Given the description of an element on the screen output the (x, y) to click on. 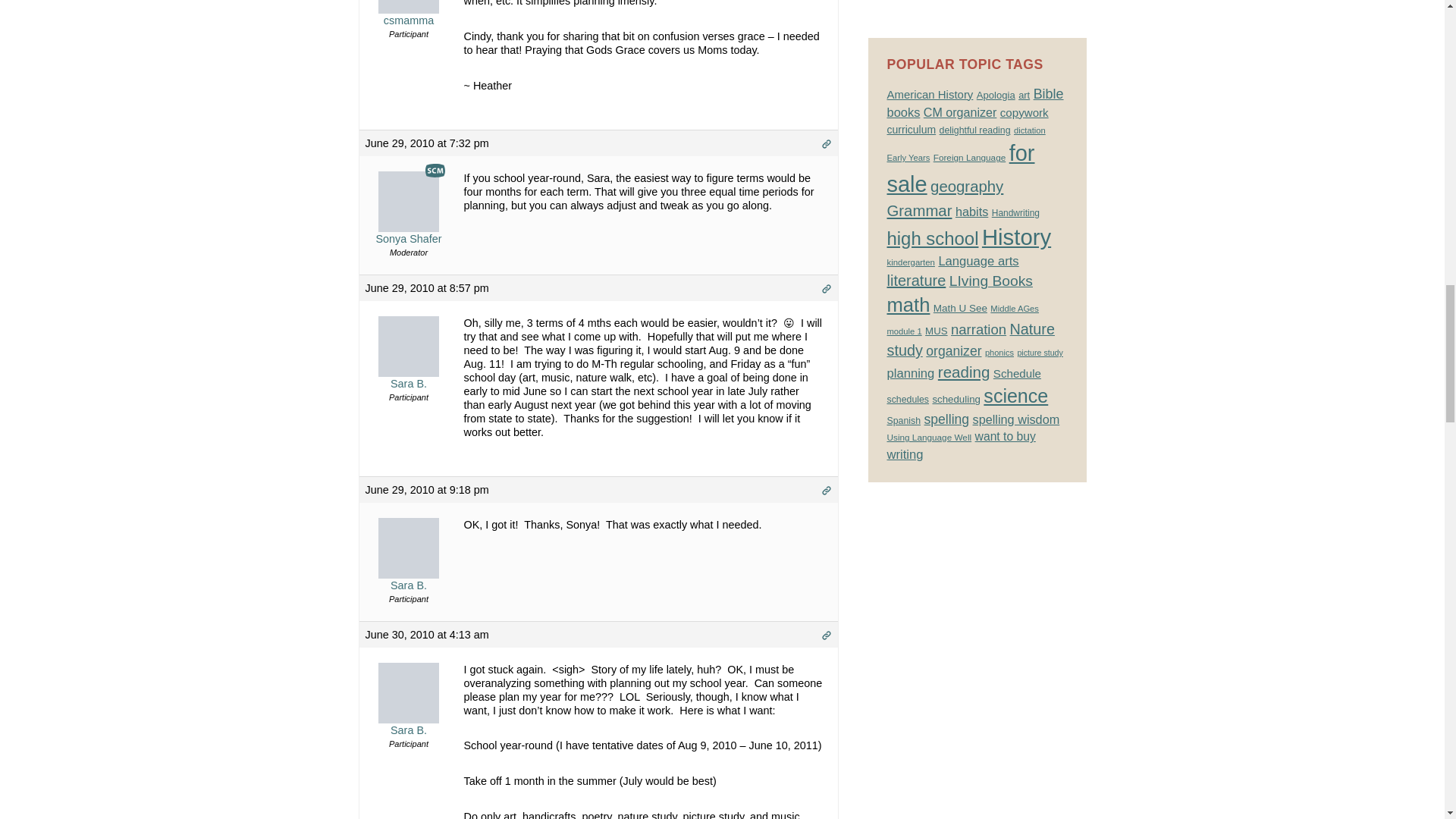
View Sonya Shafer's profile (408, 217)
View Sara B.'s profile (408, 708)
View Sara B.'s profile (408, 362)
View Sara B.'s profile (408, 563)
View csmamma's profile (408, 13)
